Given the description of an element on the screen output the (x, y) to click on. 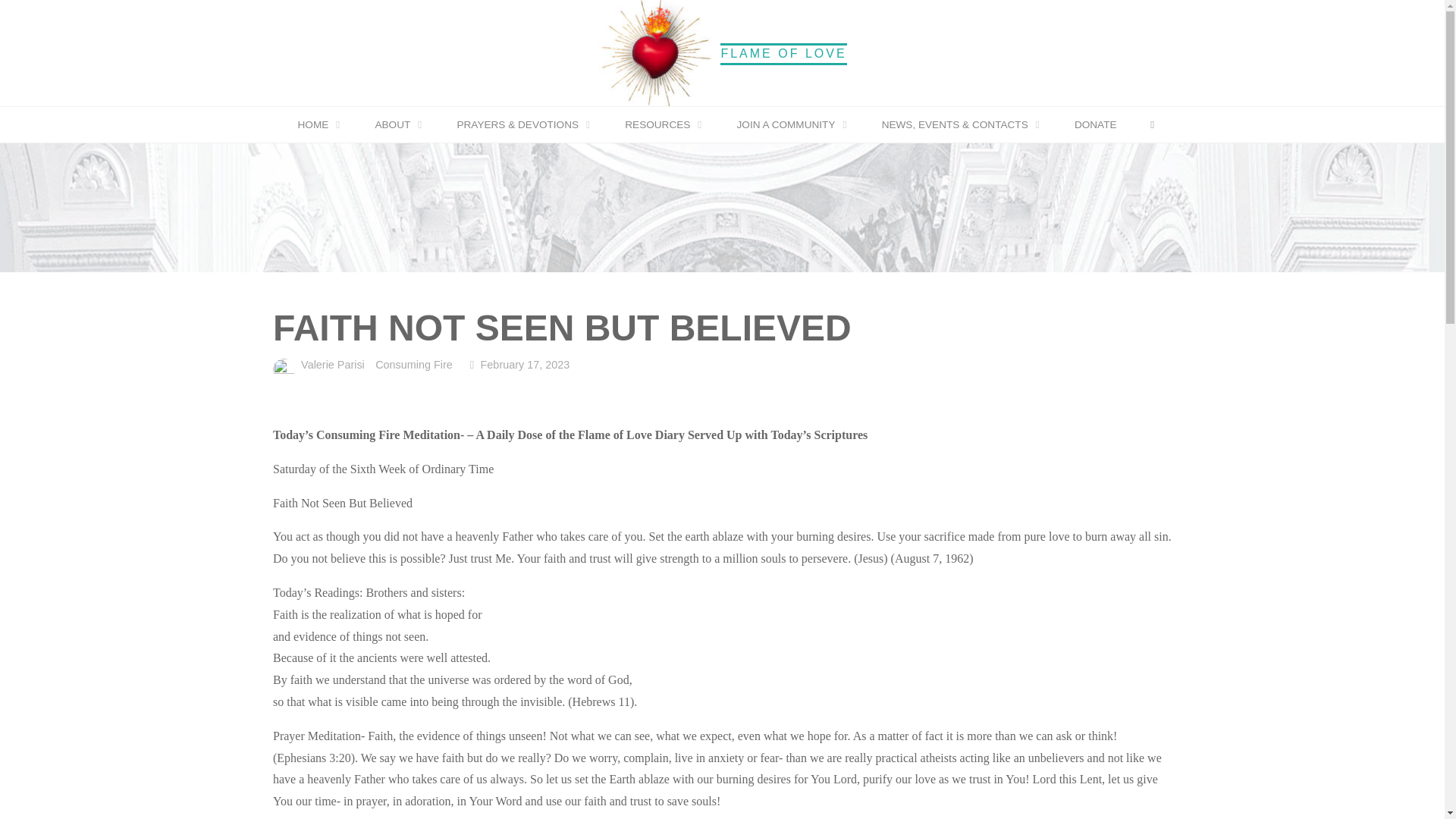
FLAME OF LOVE (782, 52)
View all posts by Valerie Parisi (331, 365)
of the Immaculate Heart of Mary (782, 52)
Flame of Love (655, 51)
